Given the description of an element on the screen output the (x, y) to click on. 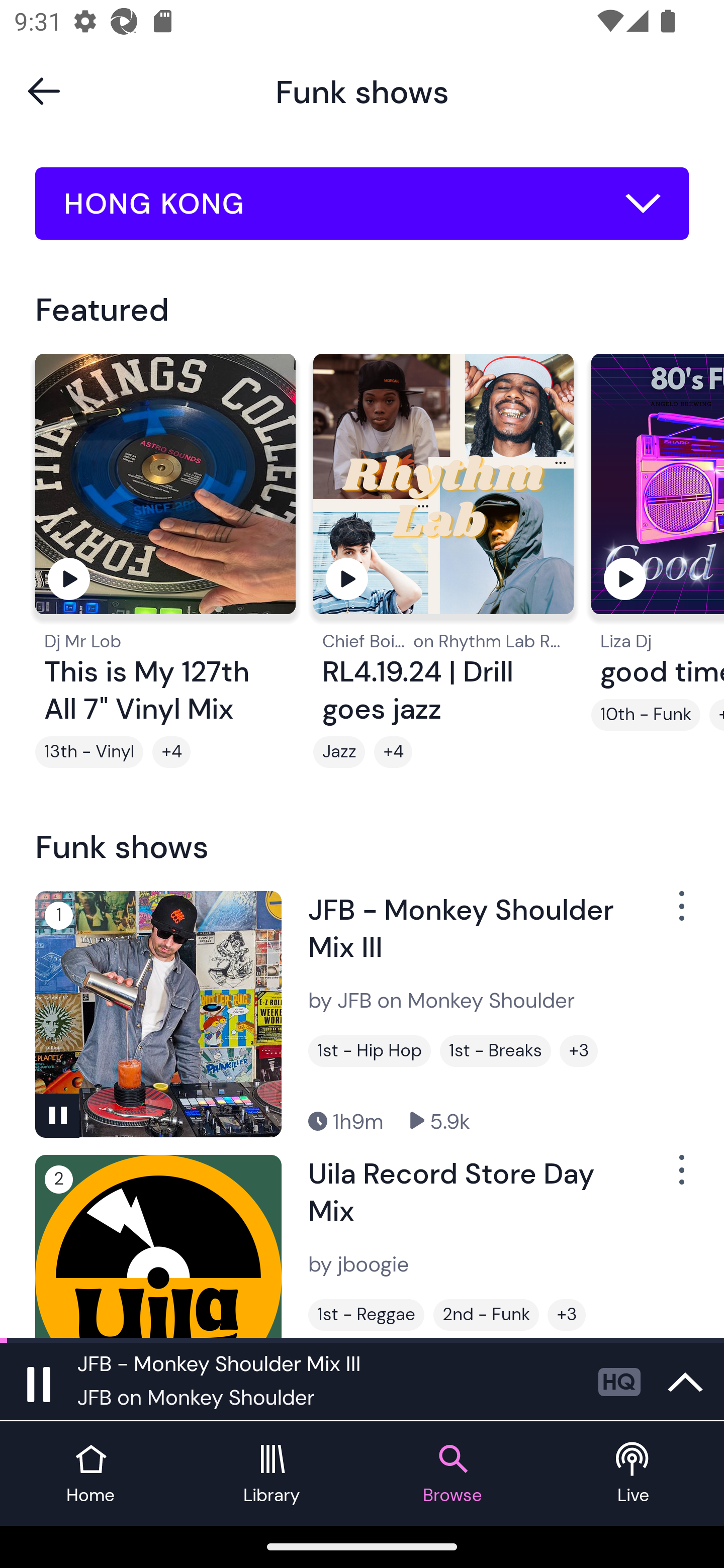
HONG KONG (361, 203)
10th - Funk (645, 714)
13th - Vinyl (89, 752)
Jazz (338, 752)
Show Options Menu Button (679, 913)
1st - Hip Hop (369, 1050)
1st - Breaks (495, 1050)
Show Options Menu Button (679, 1178)
1st - Reggae (366, 1315)
2nd - Funk (485, 1315)
Home tab Home (90, 1473)
Library tab Library (271, 1473)
Browse tab Browse (452, 1473)
Live tab Live (633, 1473)
